Given the description of an element on the screen output the (x, y) to click on. 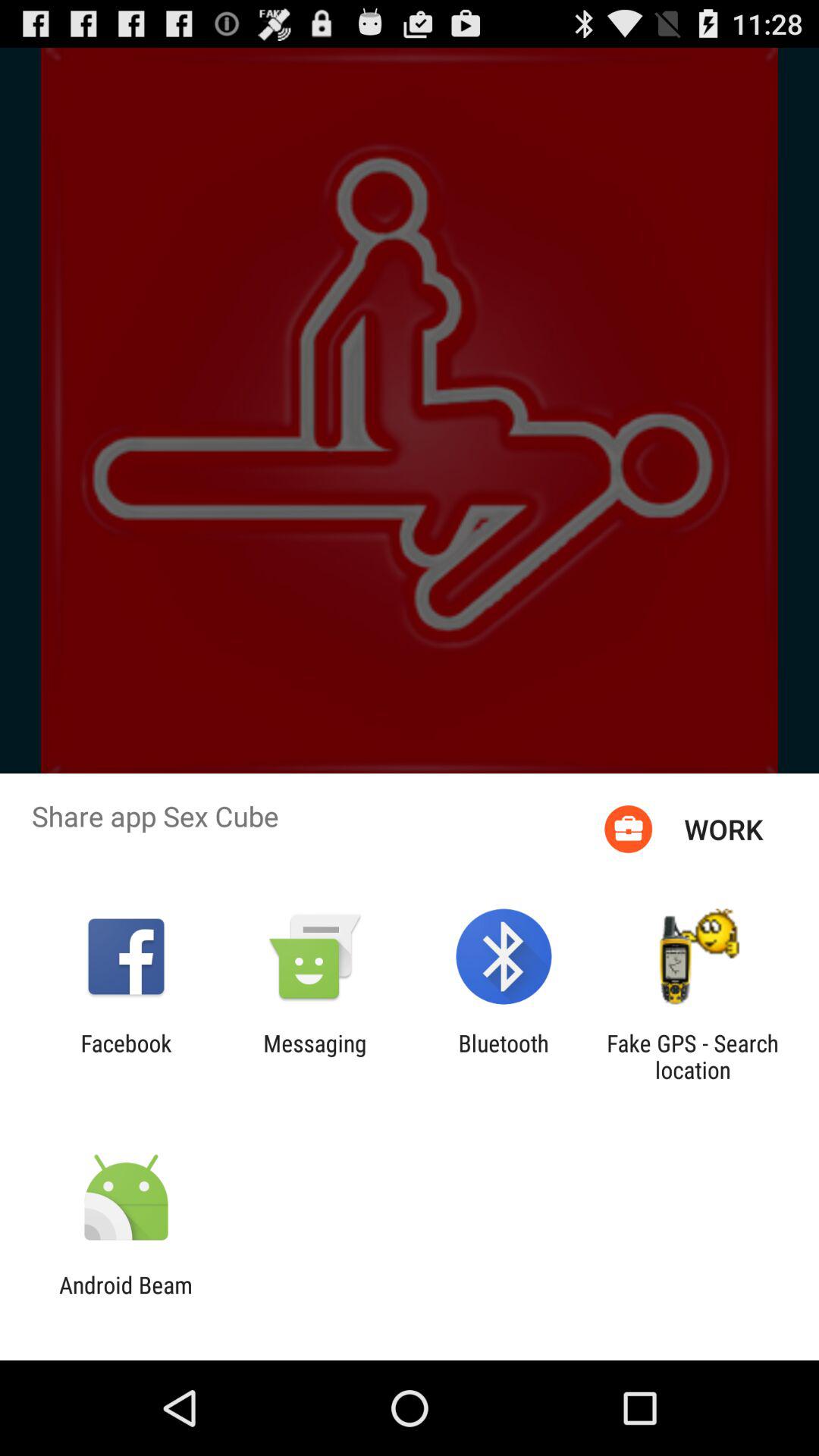
turn on the icon next to the bluetooth app (692, 1056)
